Given the description of an element on the screen output the (x, y) to click on. 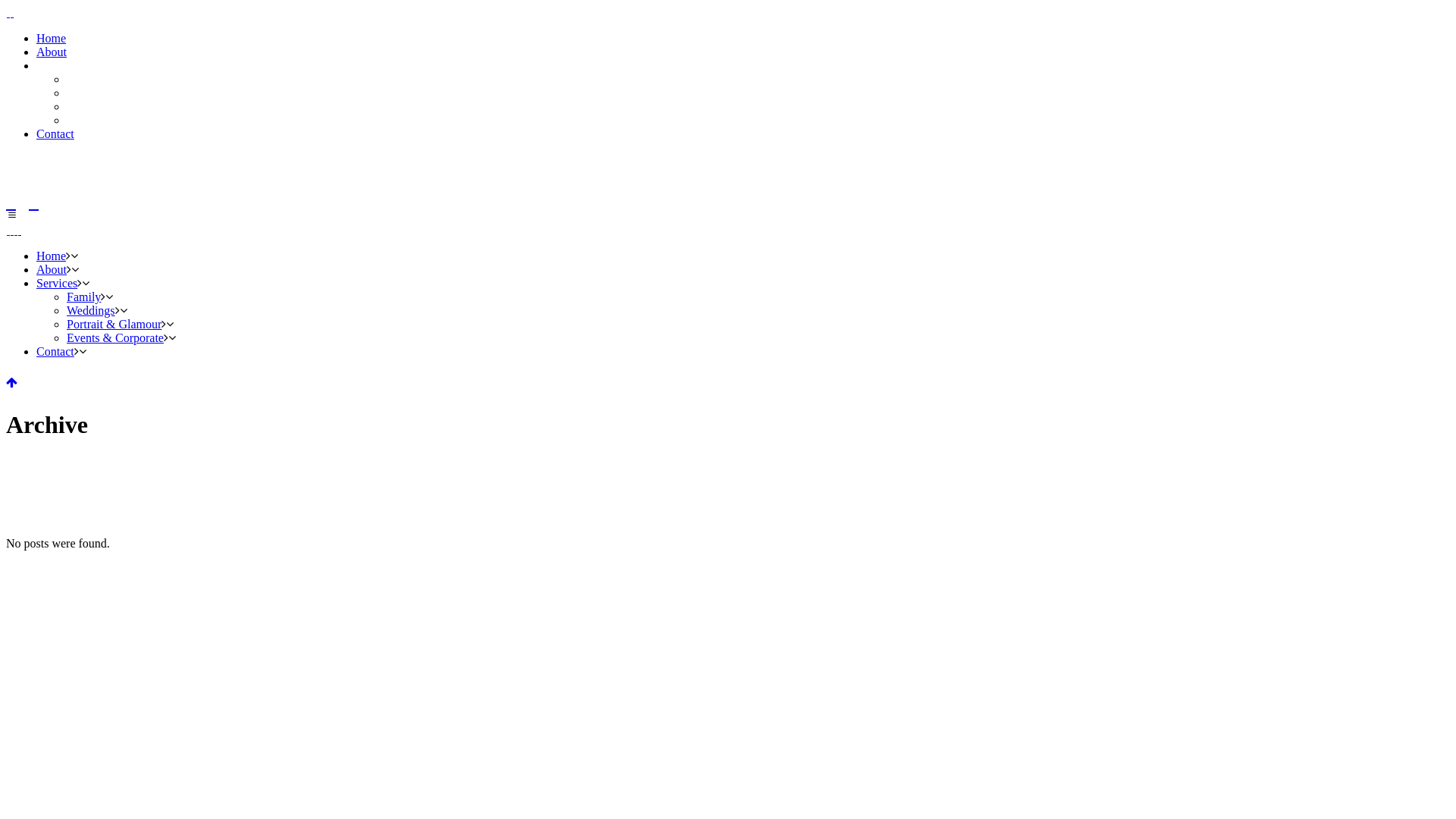
Weddings Element type: text (90, 310)
Portrait & Glamour Element type: text (113, 106)
Family Element type: text (83, 78)
Contact Element type: text (55, 351)
Family Element type: text (83, 296)
Events & Corporate Element type: text (114, 119)
Portrait & Glamour Element type: text (113, 323)
Home Element type: text (50, 37)
Home Element type: text (50, 255)
Weddings Element type: text (90, 92)
Services Element type: text (56, 65)
Contact Element type: text (55, 133)
Events & Corporate Element type: text (114, 337)
About Element type: text (51, 269)
Services Element type: text (56, 282)
About Element type: text (51, 51)
